Given the description of an element on the screen output the (x, y) to click on. 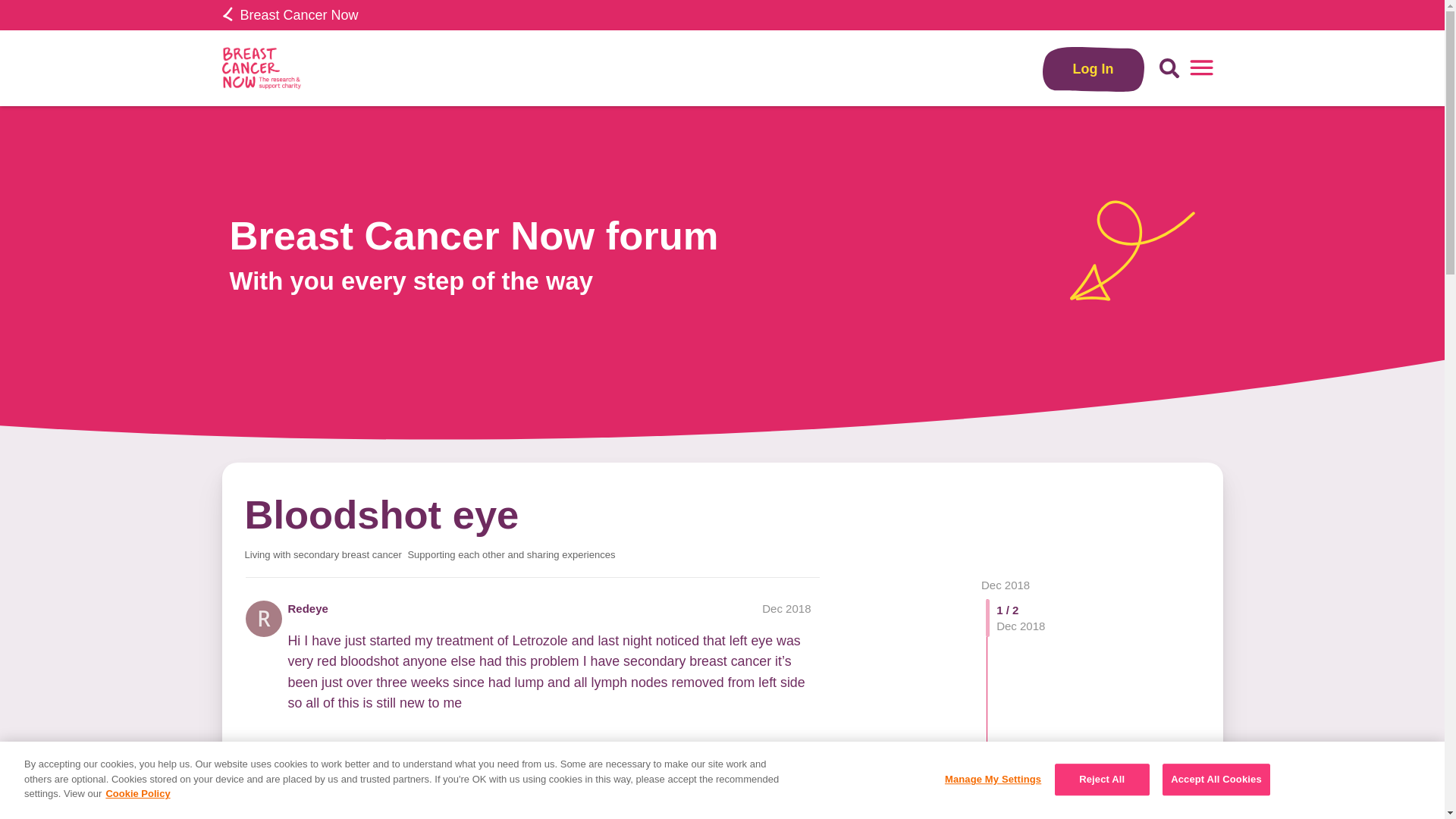
Log In (1093, 68)
Breast Cancer Now (289, 15)
menu (1201, 67)
Post date (785, 608)
Dec 2018 (1005, 584)
Living with secondary breast cancer (322, 554)
Redeye (308, 608)
Search (1169, 68)
Dec 2018 (1005, 584)
expand topic details (793, 812)
